Given the description of an element on the screen output the (x, y) to click on. 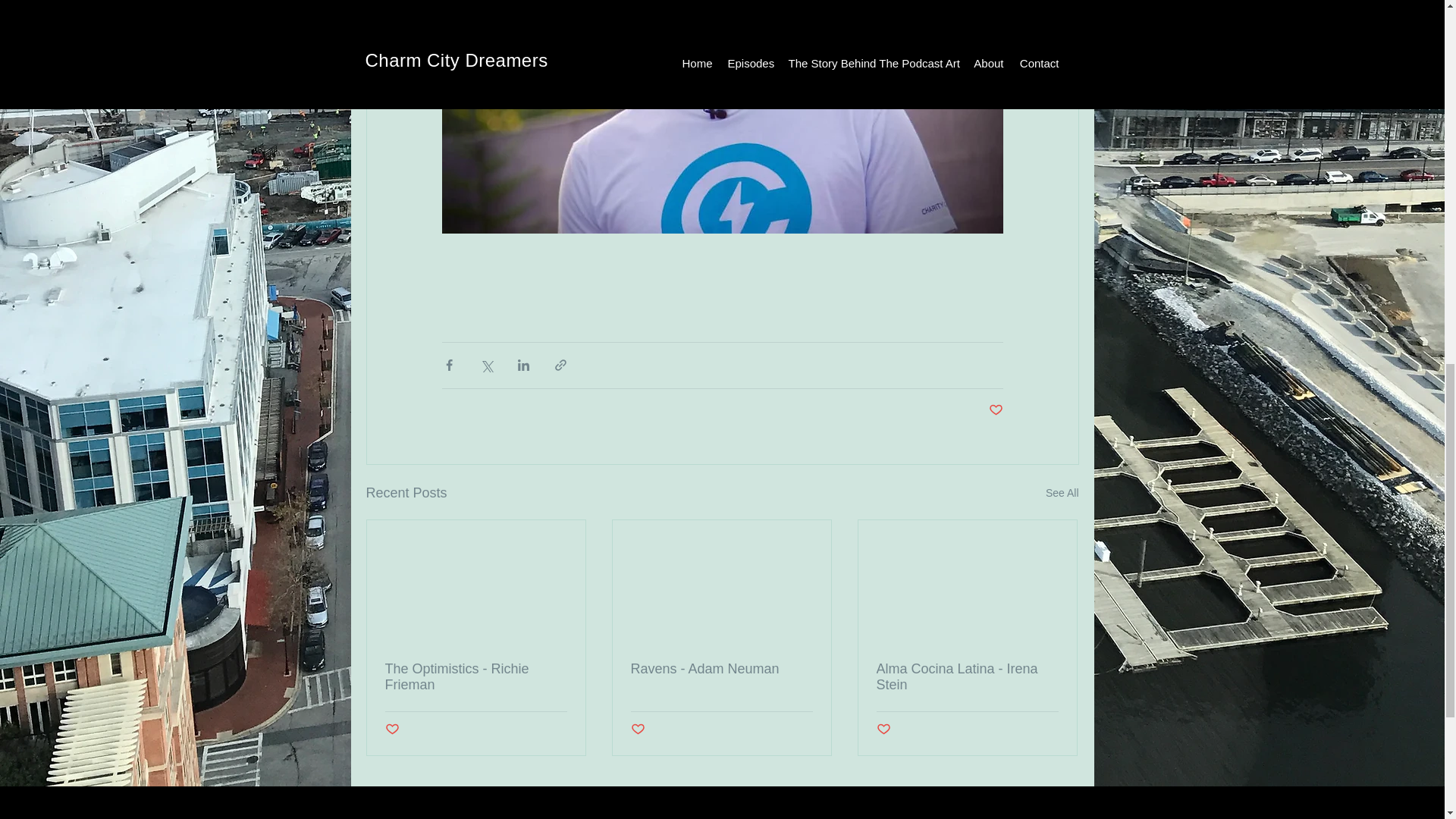
Ravens - Adam Neuman (721, 668)
Post not marked as liked (637, 729)
Alma Cocina Latina - Irena Stein (967, 676)
Post not marked as liked (995, 410)
The Optimistics - Richie Frieman (476, 676)
Post not marked as liked (883, 729)
Post not marked as liked (391, 729)
See All (1061, 493)
